Given the description of an element on the screen output the (x, y) to click on. 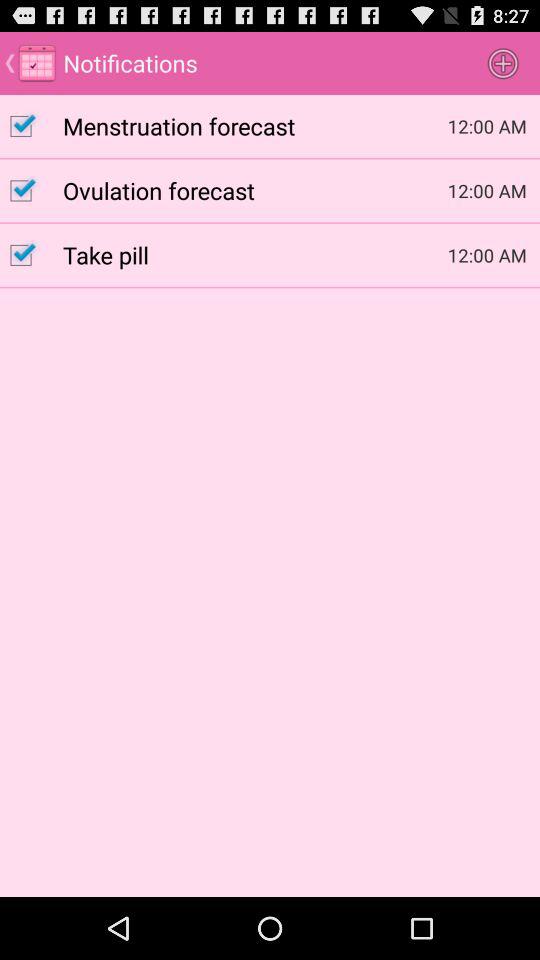
scroll until ovulation forecast item (255, 190)
